Given the description of an element on the screen output the (x, y) to click on. 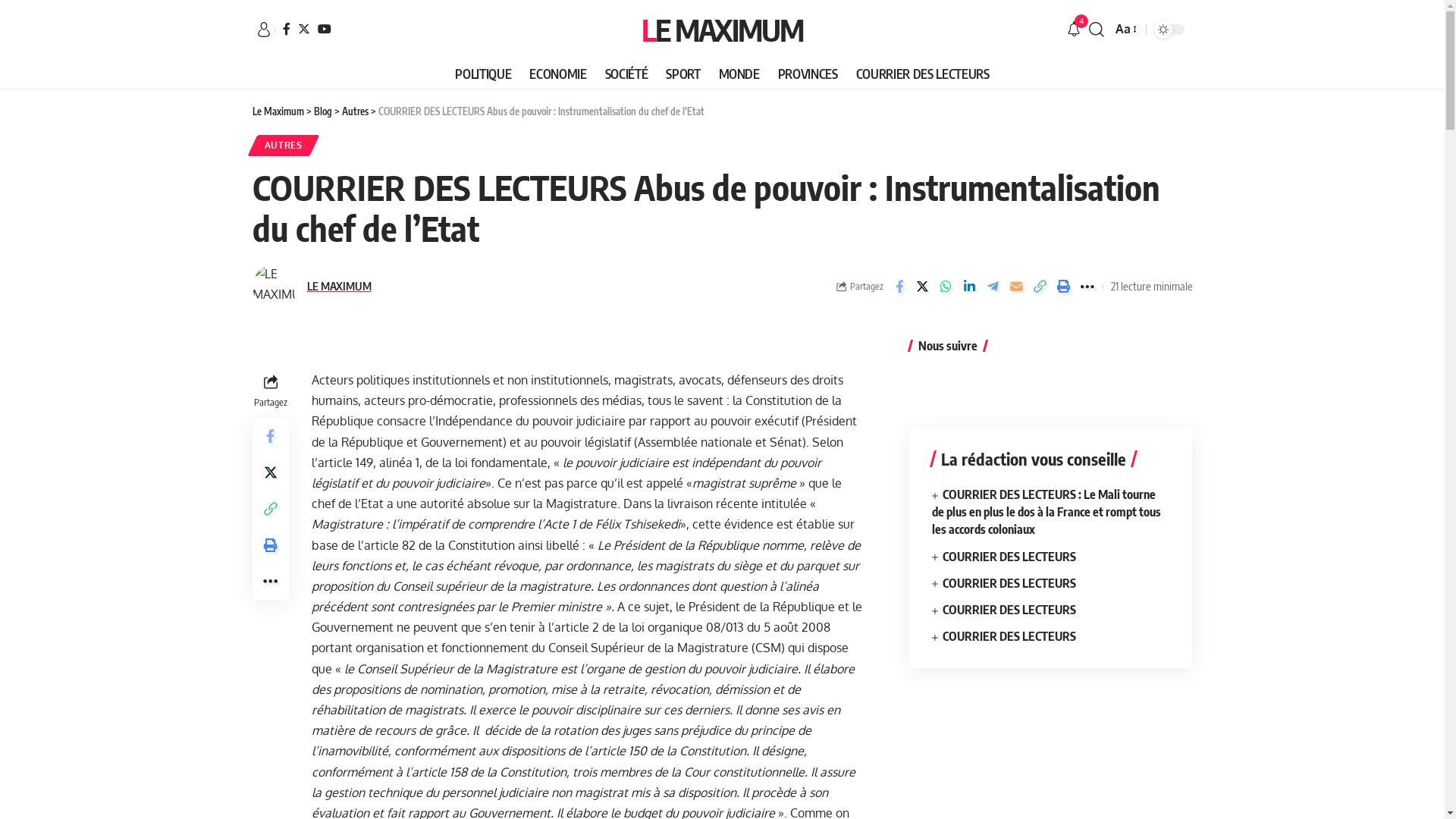
POLITIQUE Element type: text (482, 74)
SPORT Element type: text (682, 74)
AUTRES Element type: text (282, 145)
PROVINCES Element type: text (807, 74)
Autres Element type: text (354, 111)
COURRIER DES LECTEURS Element type: text (922, 74)
COURRIER DES LECTEURS Element type: text (1009, 582)
ECONOMIE Element type: text (557, 74)
Blog Element type: text (322, 111)
LE MAXIMUM Element type: text (722, 29)
Aa Element type: text (1124, 28)
COURRIER DES LECTEURS Element type: text (1009, 556)
LE MAXIMUM Element type: text (338, 285)
COURRIER DES LECTEURS Element type: text (1009, 609)
4 Element type: text (1073, 29)
Le Maximum Element type: text (277, 111)
COURRIER DES LECTEURS Element type: text (1009, 635)
MONDE Element type: text (738, 74)
